Given the description of an element on the screen output the (x, y) to click on. 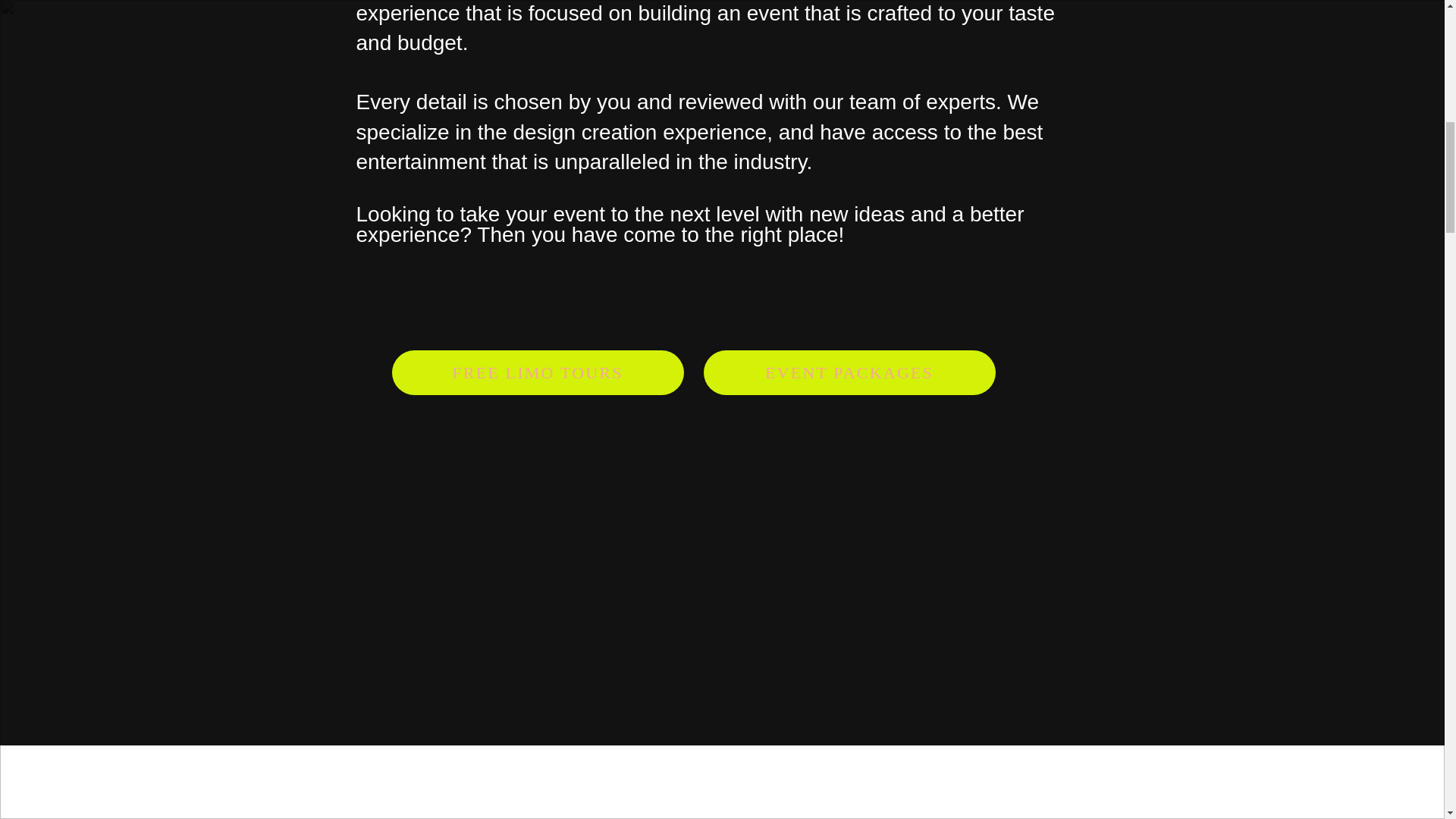
EVENT PACKAGES (849, 372)
FREE LIMO TOURS (536, 372)
